Given the description of an element on the screen output the (x, y) to click on. 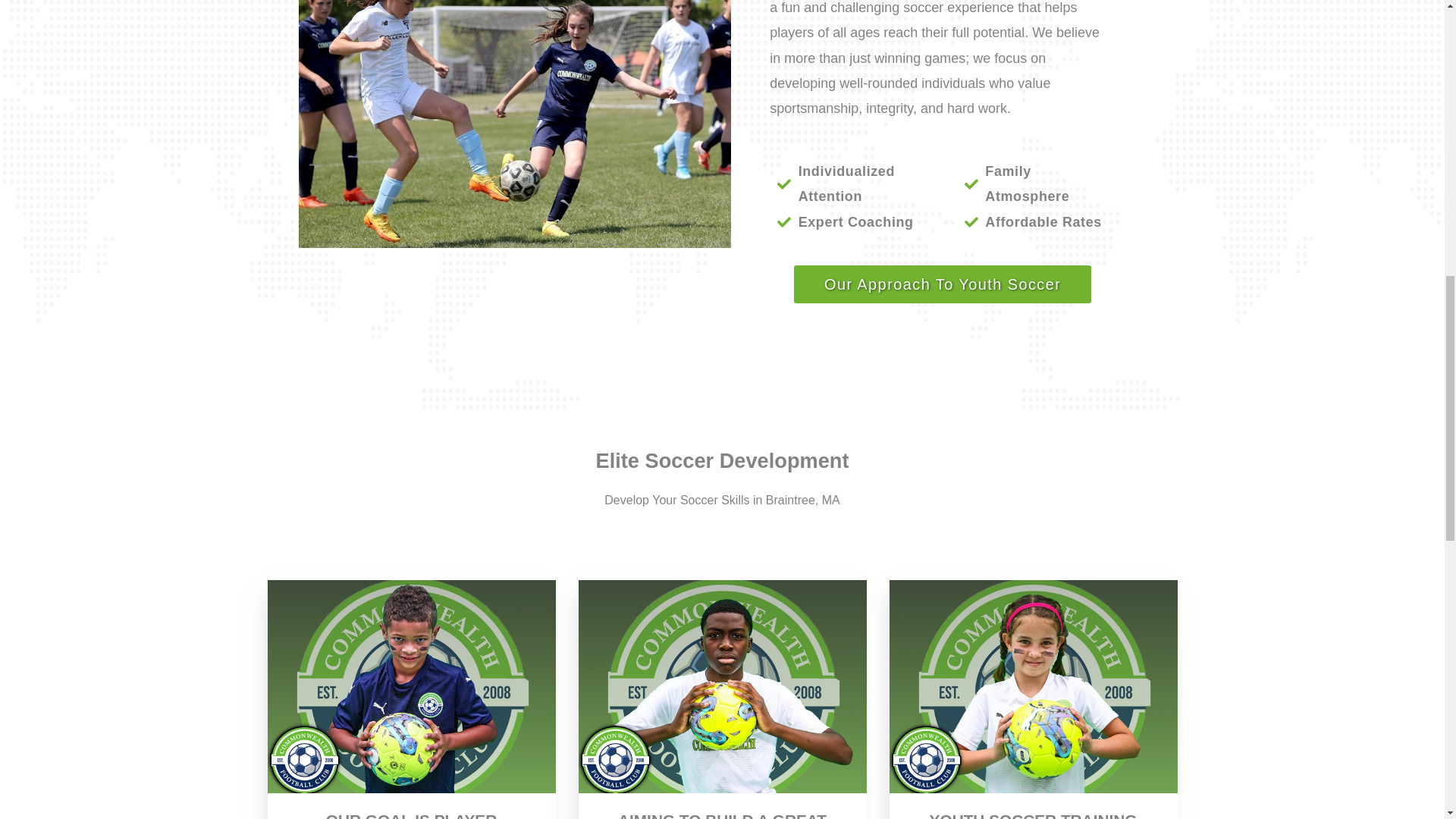
Our Approach To Youth Soccer (941, 284)
